Given the description of an element on the screen output the (x, y) to click on. 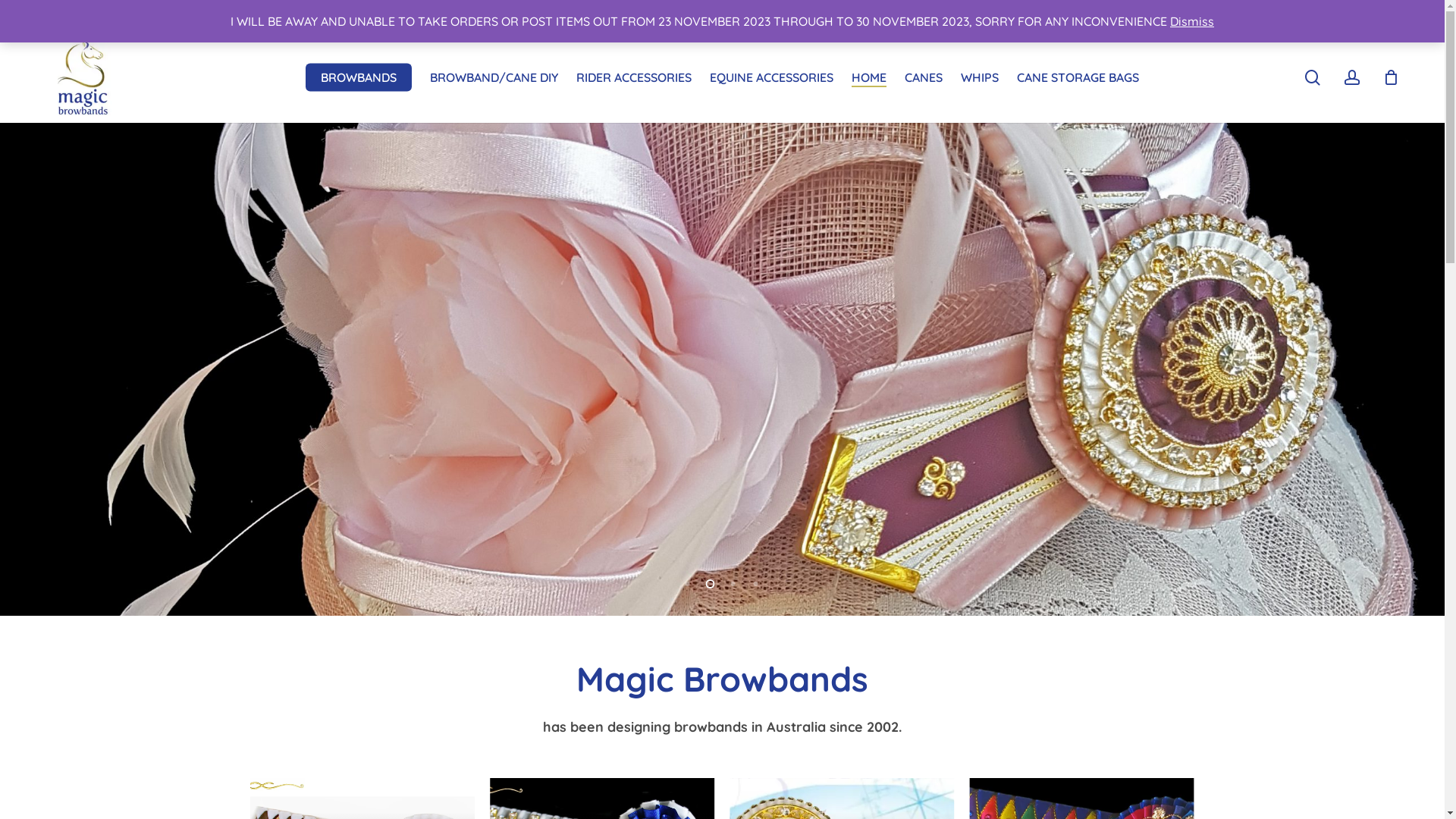
CONTACT Element type: text (1401, 15)
instagram Element type: text (1129, 777)
email Element type: text (1186, 777)
phone Element type: text (1157, 777)
WHIPS Element type: text (979, 77)
CANES Element type: text (923, 77)
INSTAGRAM Element type: text (48, 15)
EQUINE ACCESSORIES Element type: text (771, 77)
IMDigital Element type: text (558, 778)
facebook Element type: text (1104, 777)
RIDER ACCESSORIES Element type: text (633, 77)
HOME Element type: text (868, 77)
FACEBOOK Element type: text (24, 15)
Sitemap Element type: text (721, 634)
Privacy Policy Element type: text (401, 583)
My account Element type: text (401, 660)
Conditions of Use Element type: text (401, 608)
Shipping and Returns Policy Element type: text (401, 634)
Privacy policy Element type: text (285, 795)
CLUBS Element type: text (1290, 15)
BROWBAND/CANE DIY Element type: text (493, 77)
EMAIL Element type: text (100, 15)
BROWBANDS Element type: text (358, 77)
account Element type: text (1352, 77)
Dismiss Element type: text (1192, 20)
Contact Element type: text (401, 557)
Gift Certificate Element type: text (721, 608)
Conditions of use Element type: text (371, 795)
CANE STORAGE BAGS Element type: text (1077, 77)
About us Element type: text (721, 557)
Clubs Element type: text (721, 583)
ABOUT US Element type: text (1342, 15)
search Element type: text (1312, 77)
PHONE Element type: text (74, 15)
